Given the description of an element on the screen output the (x, y) to click on. 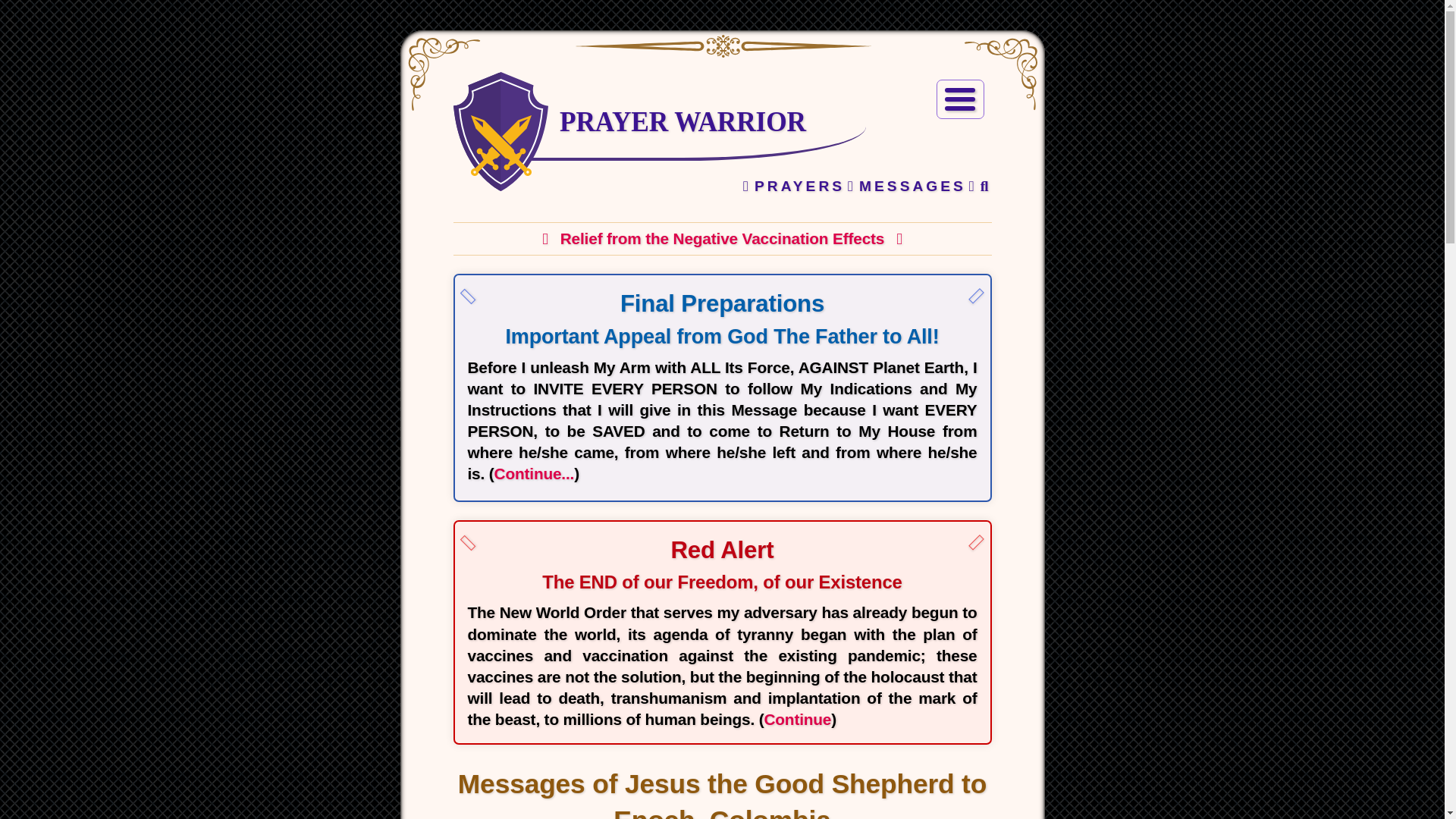
PRAYER WARRIOR (682, 122)
Search the Messages (978, 186)
